Given the description of an element on the screen output the (x, y) to click on. 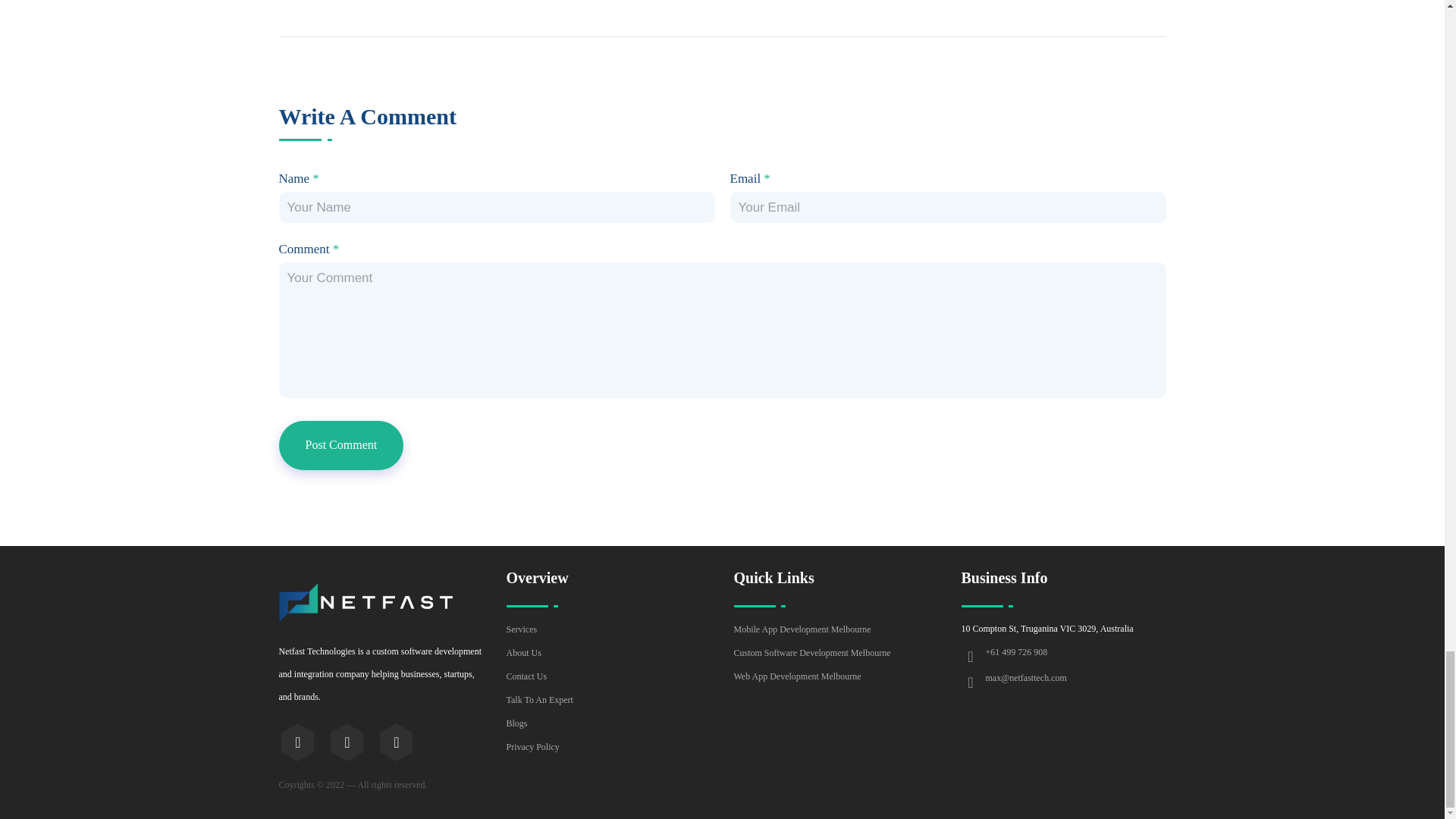
Post Comment (341, 445)
